Given the description of an element on the screen output the (x, y) to click on. 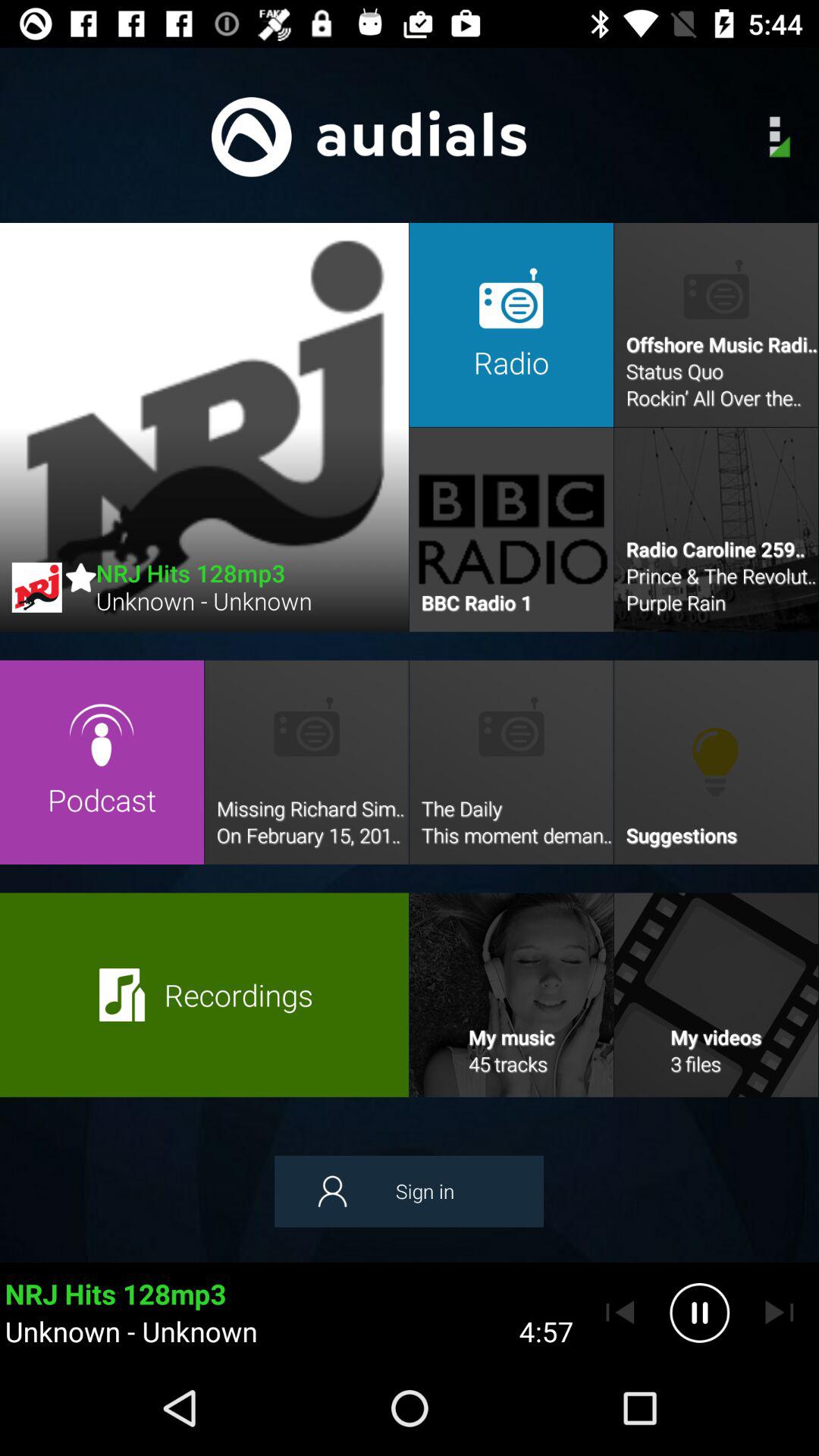
go to previous song (619, 1312)
